Given the description of an element on the screen output the (x, y) to click on. 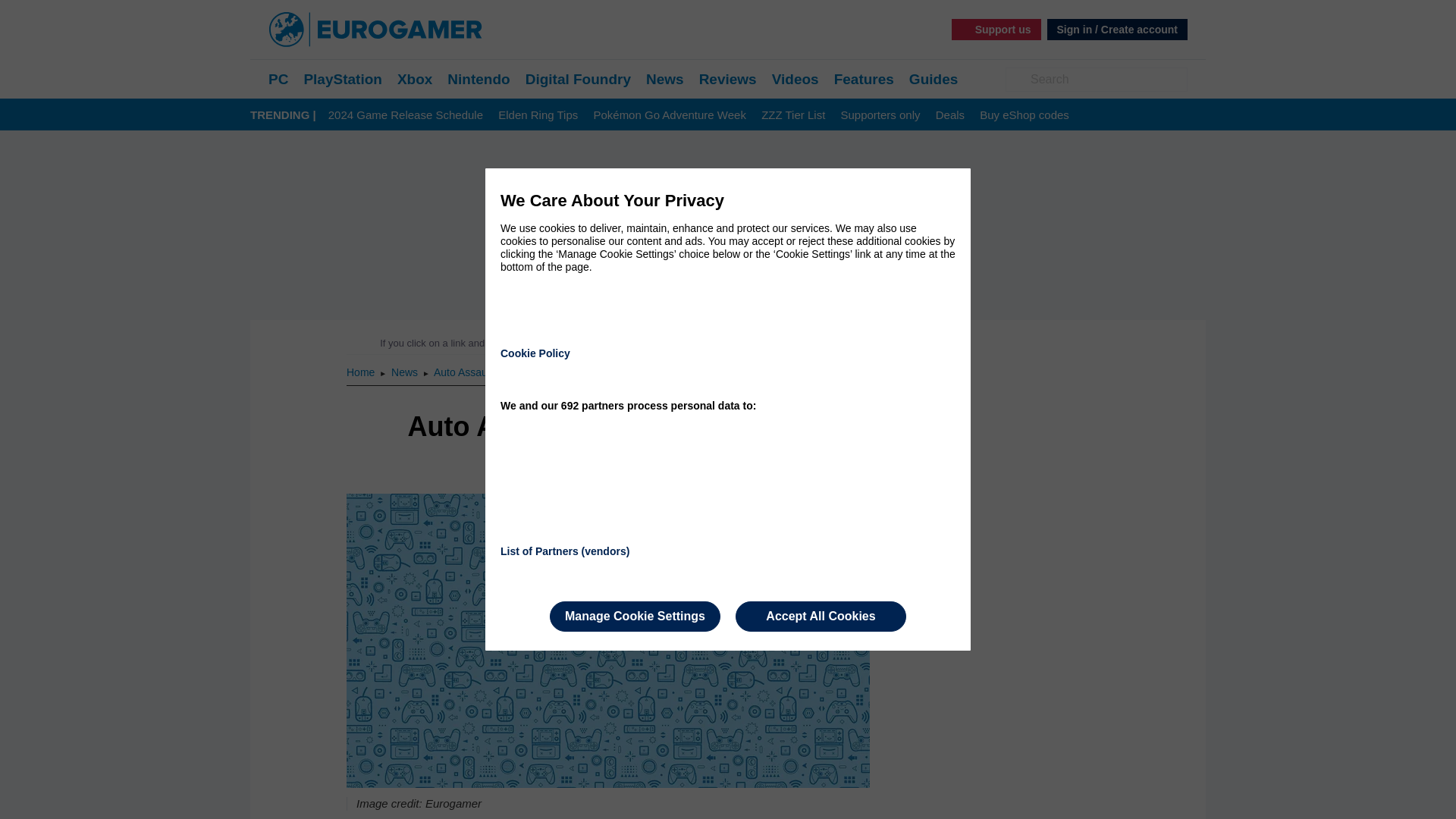
Nintendo (477, 78)
Home (361, 372)
Auto Assault (463, 372)
2024 Game Release Schedule (406, 114)
Deals (949, 114)
ZZZ Tier List (793, 114)
Features (863, 78)
Auto Assault (463, 372)
Nintendo (477, 78)
Support us (996, 29)
